Given the description of an element on the screen output the (x, y) to click on. 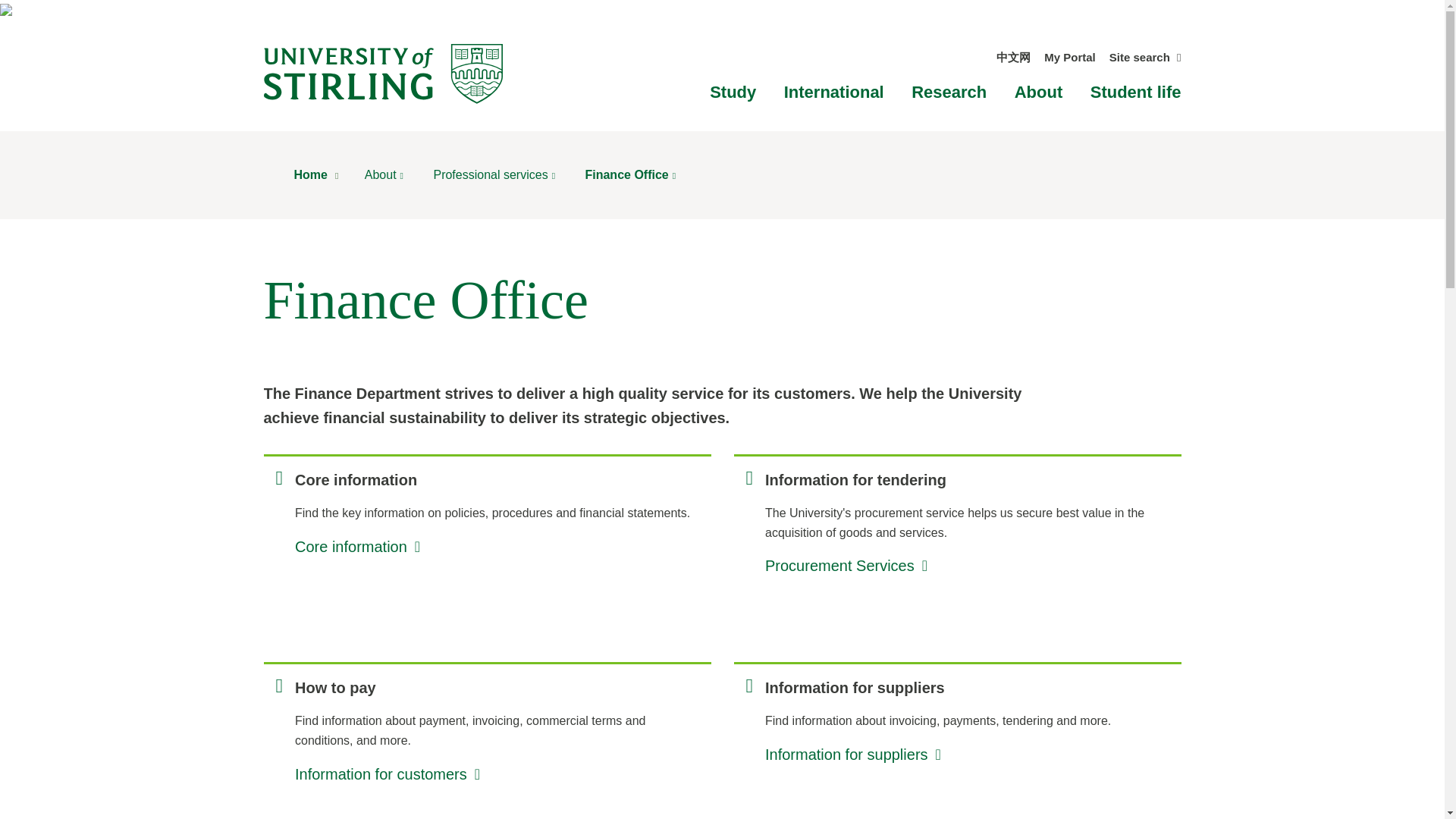
Study (732, 91)
Site search (1144, 56)
Student life (1135, 91)
University of Stirling (382, 72)
My Portal (1069, 56)
International (833, 91)
About (1038, 91)
Research (949, 91)
